Given the description of an element on the screen output the (x, y) to click on. 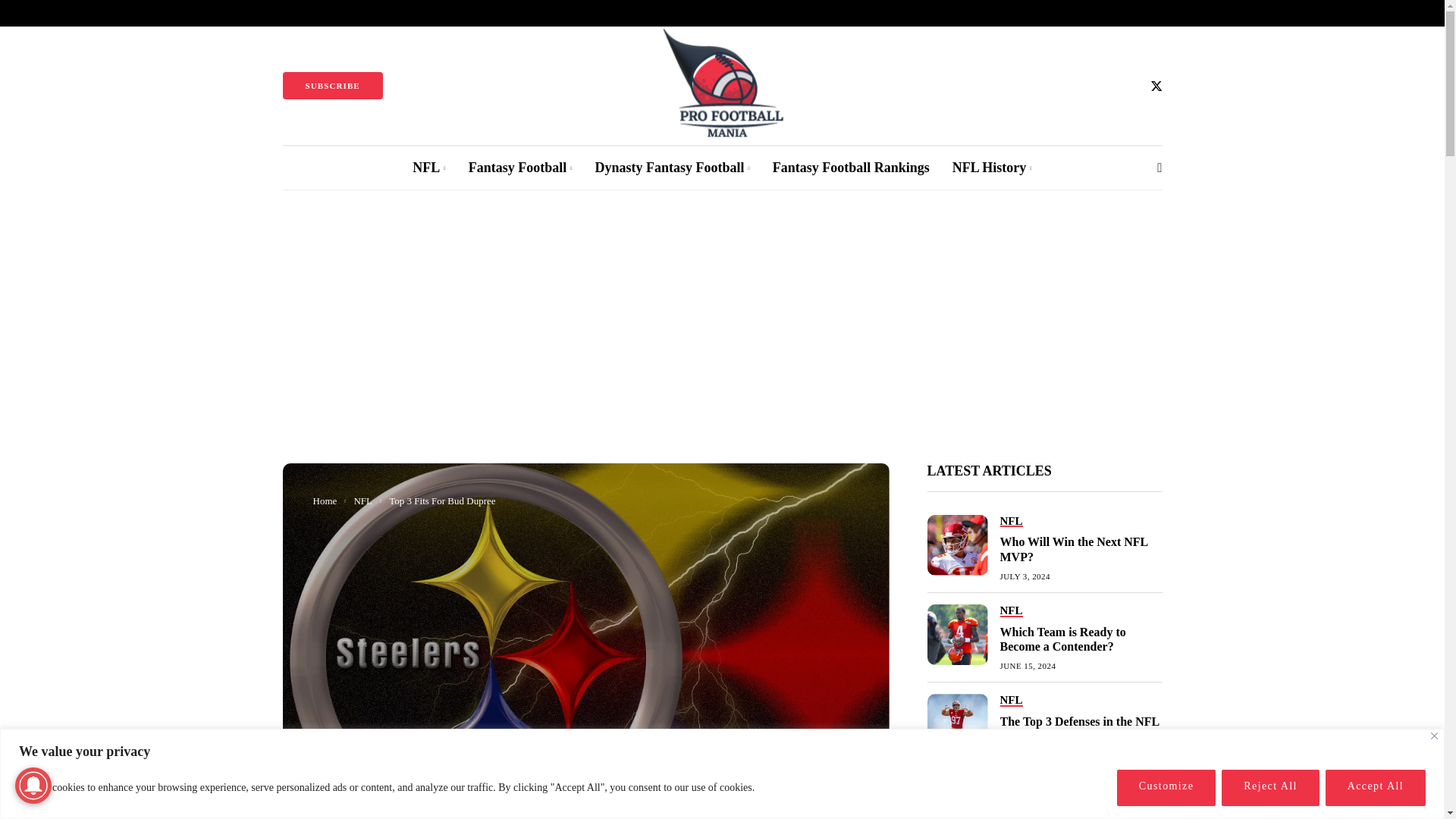
Accept All (1374, 787)
Fantasy Football (520, 167)
Customize (1165, 787)
Posts by jakrajal (361, 816)
Reject All (1270, 787)
SUBSCRIBE (331, 85)
